Given the description of an element on the screen output the (x, y) to click on. 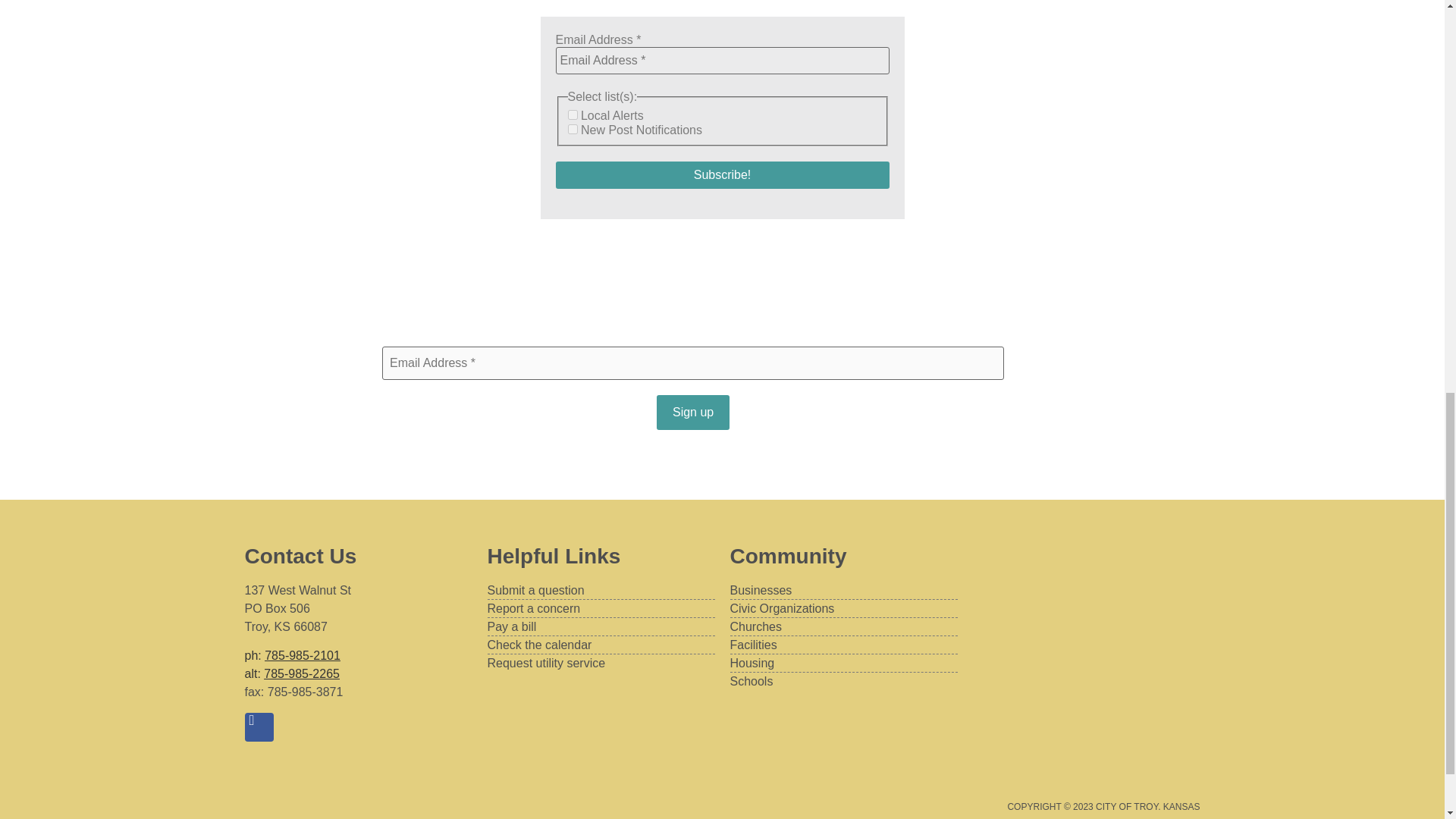
3 (571, 129)
4 (571, 114)
Subscribe! (721, 175)
Email Address (721, 60)
Email Address (692, 363)
Sign up (692, 411)
